Given the description of an element on the screen output the (x, y) to click on. 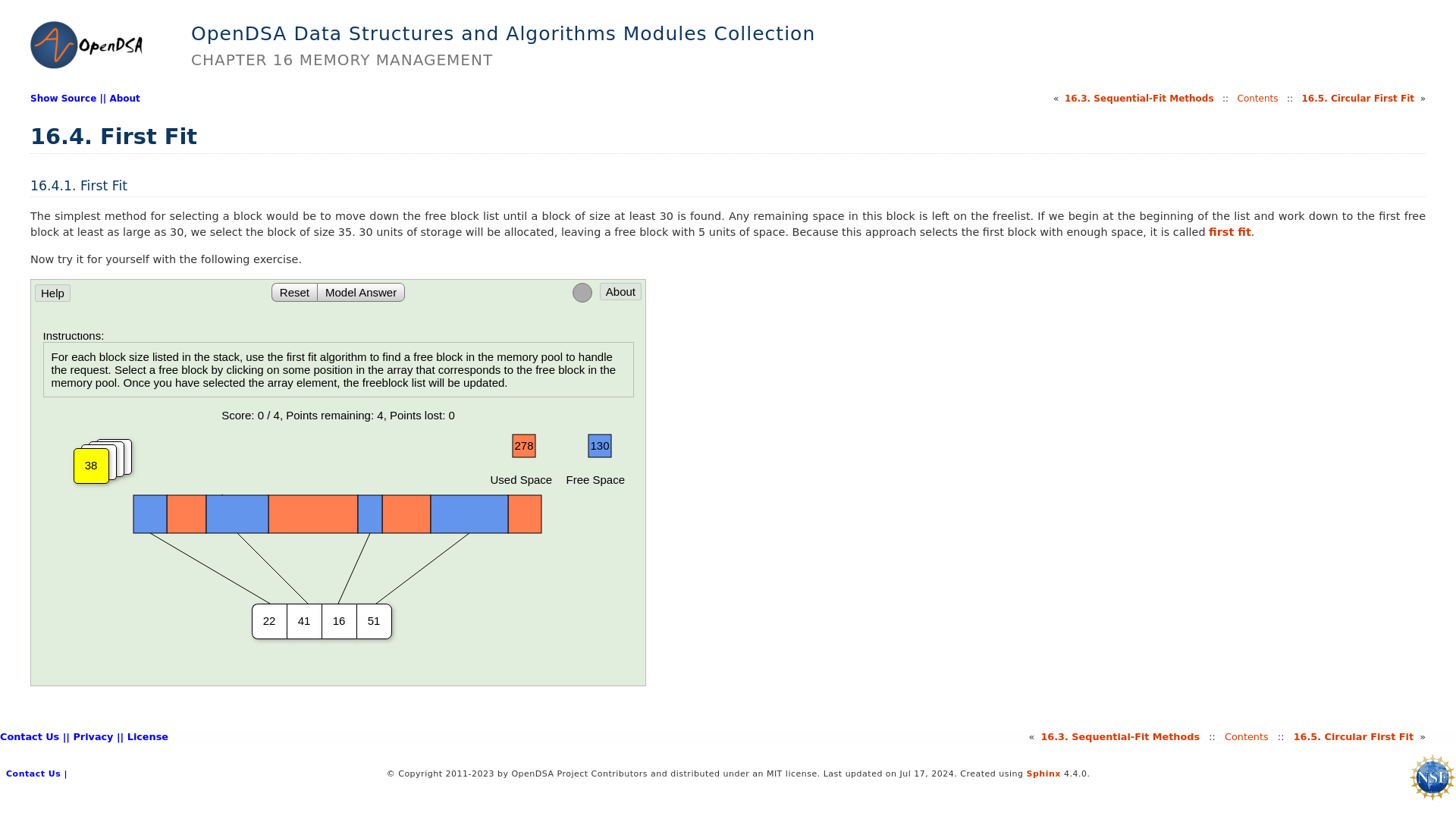
16.3. Sequential-Fit Methods (1120, 736)
Contents (1246, 736)
16.3. Sequential-Fit Methods (1139, 98)
16.5. Circular First Fit (1358, 98)
16.5. Circular First Fit (1353, 736)
OpenDSA Data Structures and Algorithms Modules Collection (502, 33)
Contents (1257, 98)
first fit (1229, 232)
Sphinx (1043, 773)
